Given the description of an element on the screen output the (x, y) to click on. 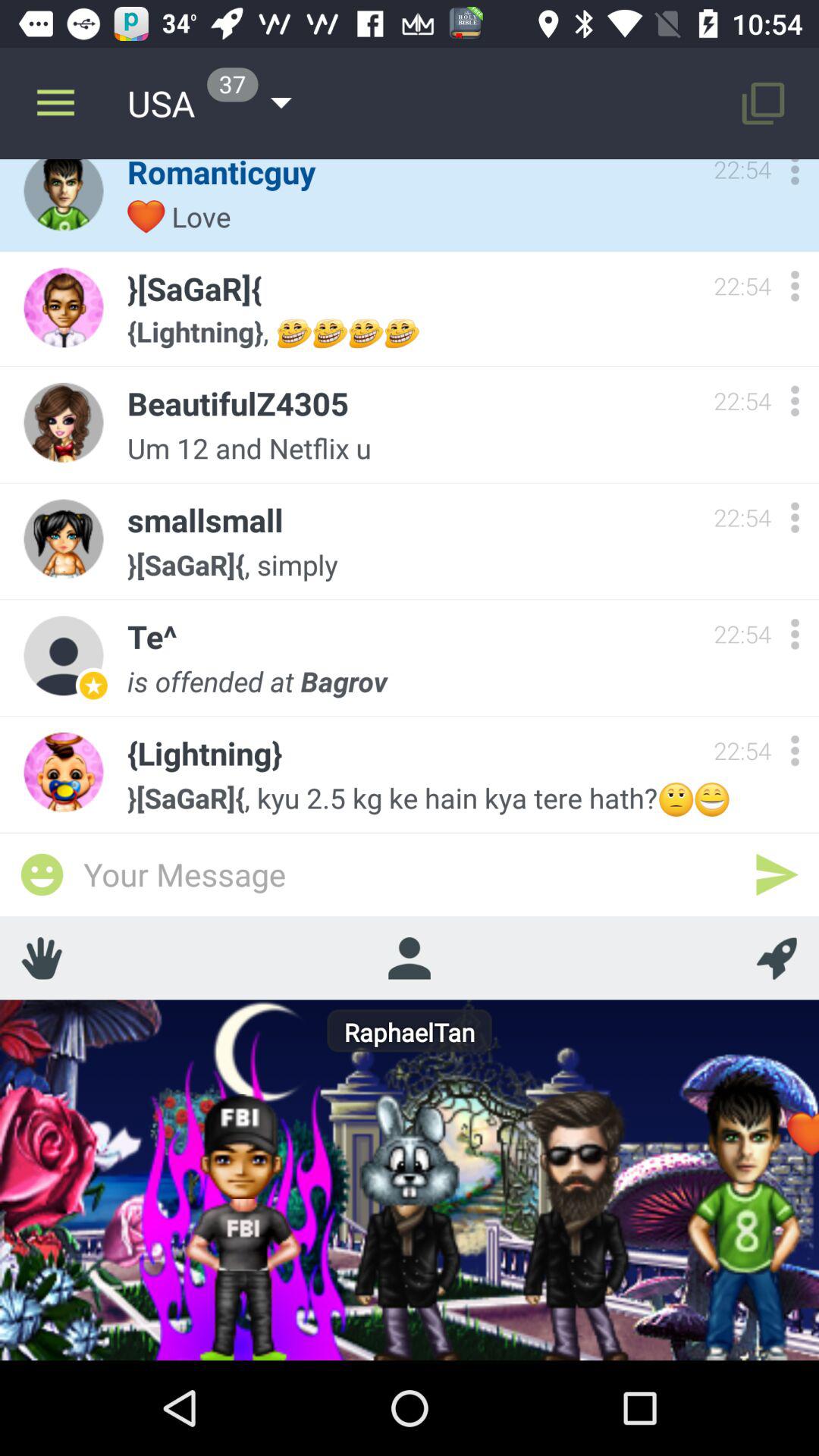
shows fingers icon (41, 957)
